Given the description of an element on the screen output the (x, y) to click on. 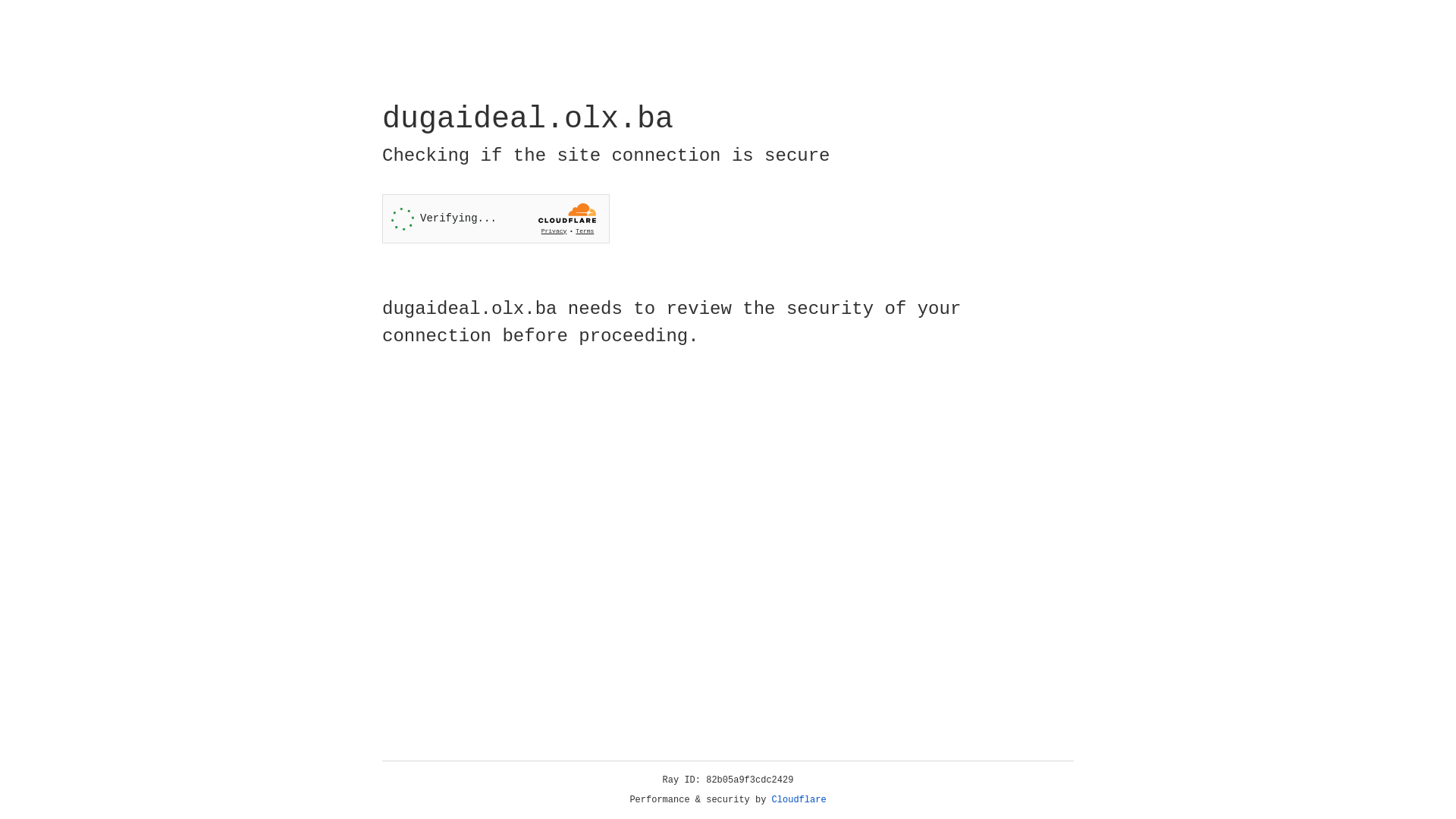
Cloudflare Element type: text (798, 799)
Widget containing a Cloudflare security challenge Element type: hover (495, 218)
